Given the description of an element on the screen output the (x, y) to click on. 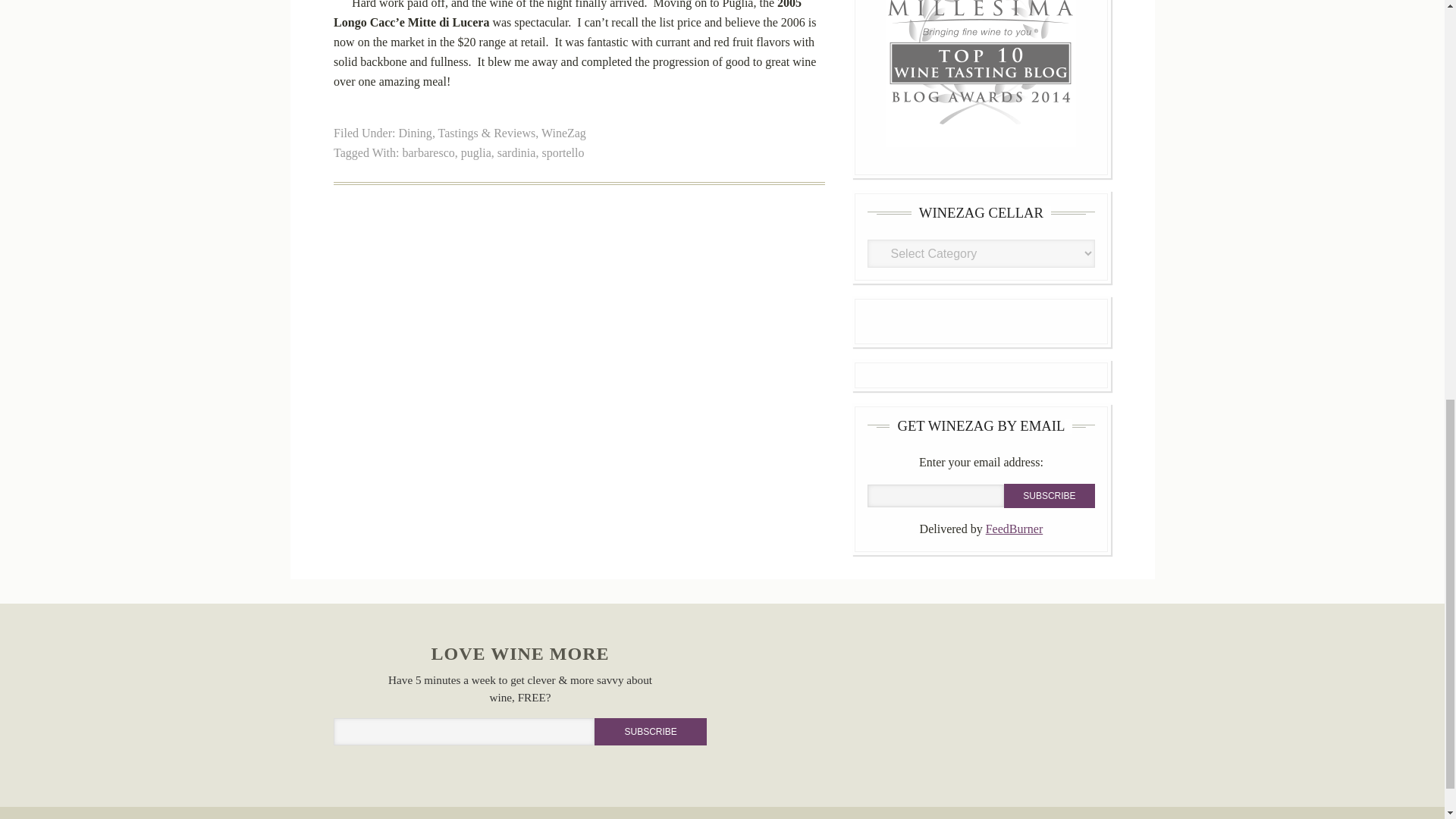
WineZag (563, 132)
barbaresco (427, 152)
Subscribe (650, 731)
Subscribe (1049, 495)
Subscribe (650, 731)
sportello (562, 152)
Dining (413, 132)
Subscribe (1049, 495)
FeedBurner (1014, 528)
sardinia (516, 152)
puglia (476, 152)
